Given the description of an element on the screen output the (x, y) to click on. 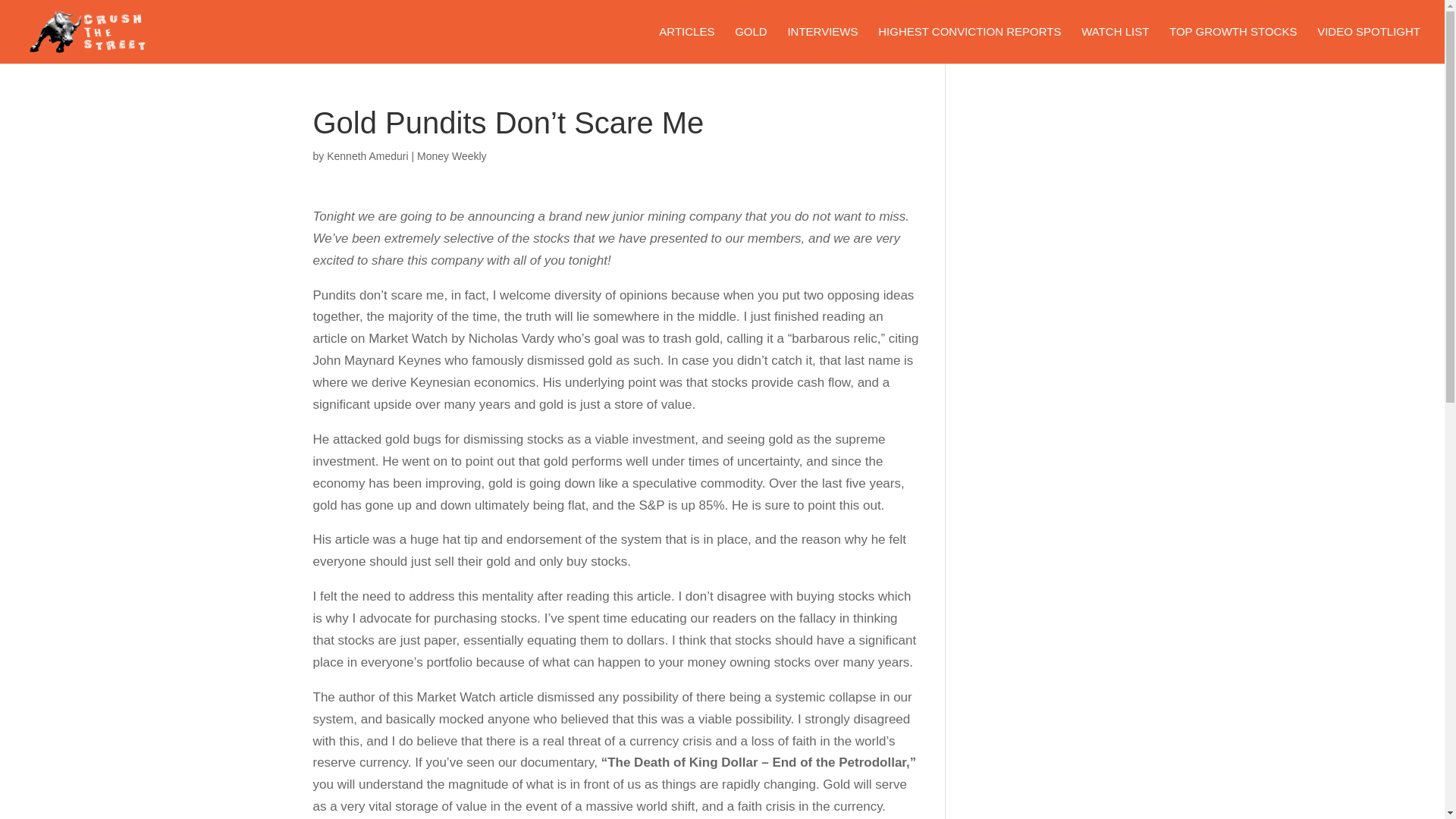
WATCH LIST (1114, 44)
HIGHEST CONVICTION REPORTS (969, 44)
TOP GROWTH STOCKS (1233, 44)
Posts by Kenneth Ameduri (366, 155)
INTERVIEWS (822, 44)
Kenneth Ameduri (366, 155)
ARTICLES (686, 44)
VIDEO SPOTLIGHT (1369, 44)
Money Weekly (451, 155)
